Given the description of an element on the screen output the (x, y) to click on. 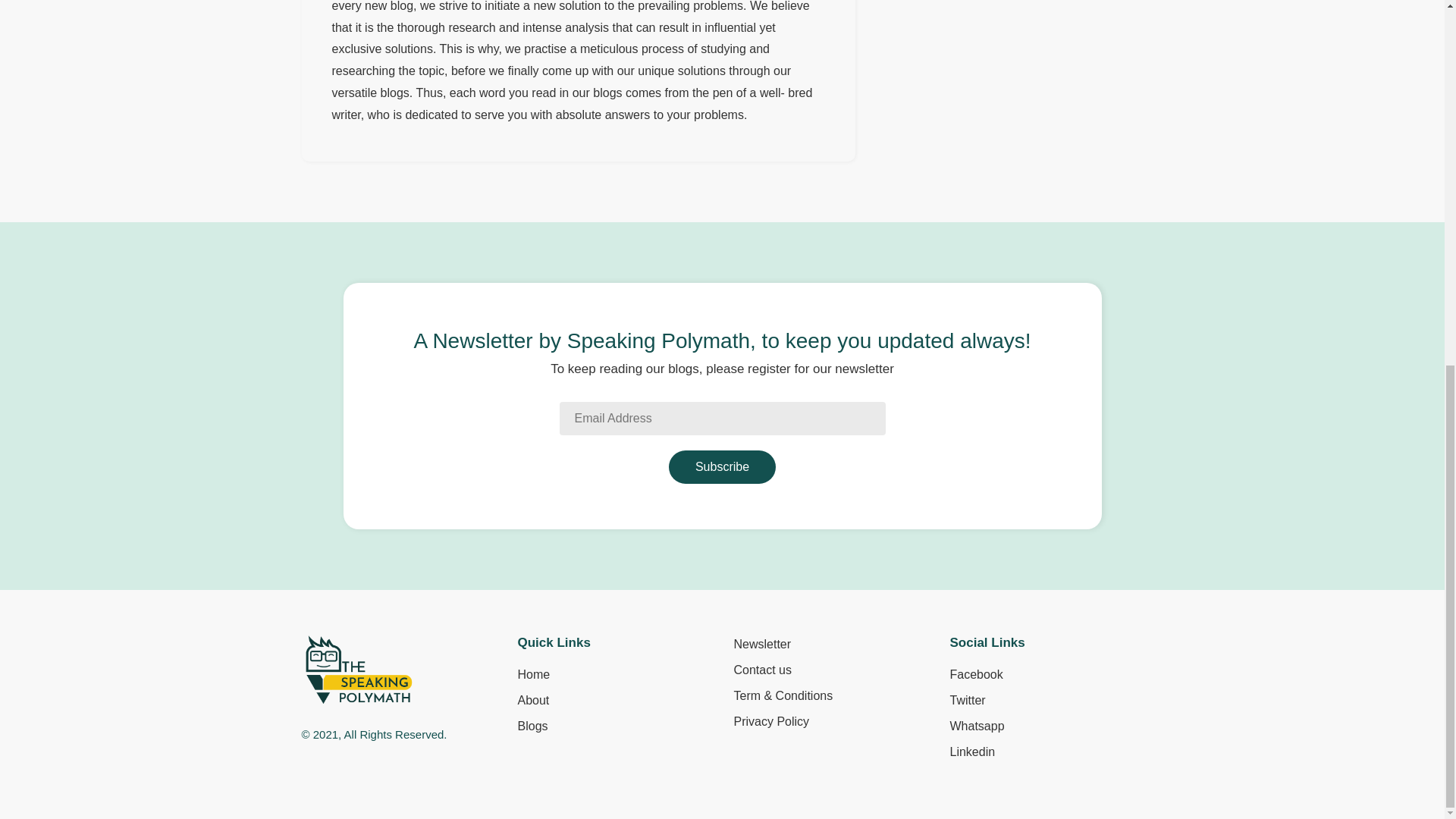
Linkedin (971, 751)
Contact us (762, 669)
Facebook (976, 674)
Blogs (531, 726)
Newsletter (762, 644)
Home (533, 674)
About (532, 700)
Whatsapp (976, 726)
Twitter (967, 700)
Privacy Policy (771, 721)
